Given the description of an element on the screen output the (x, y) to click on. 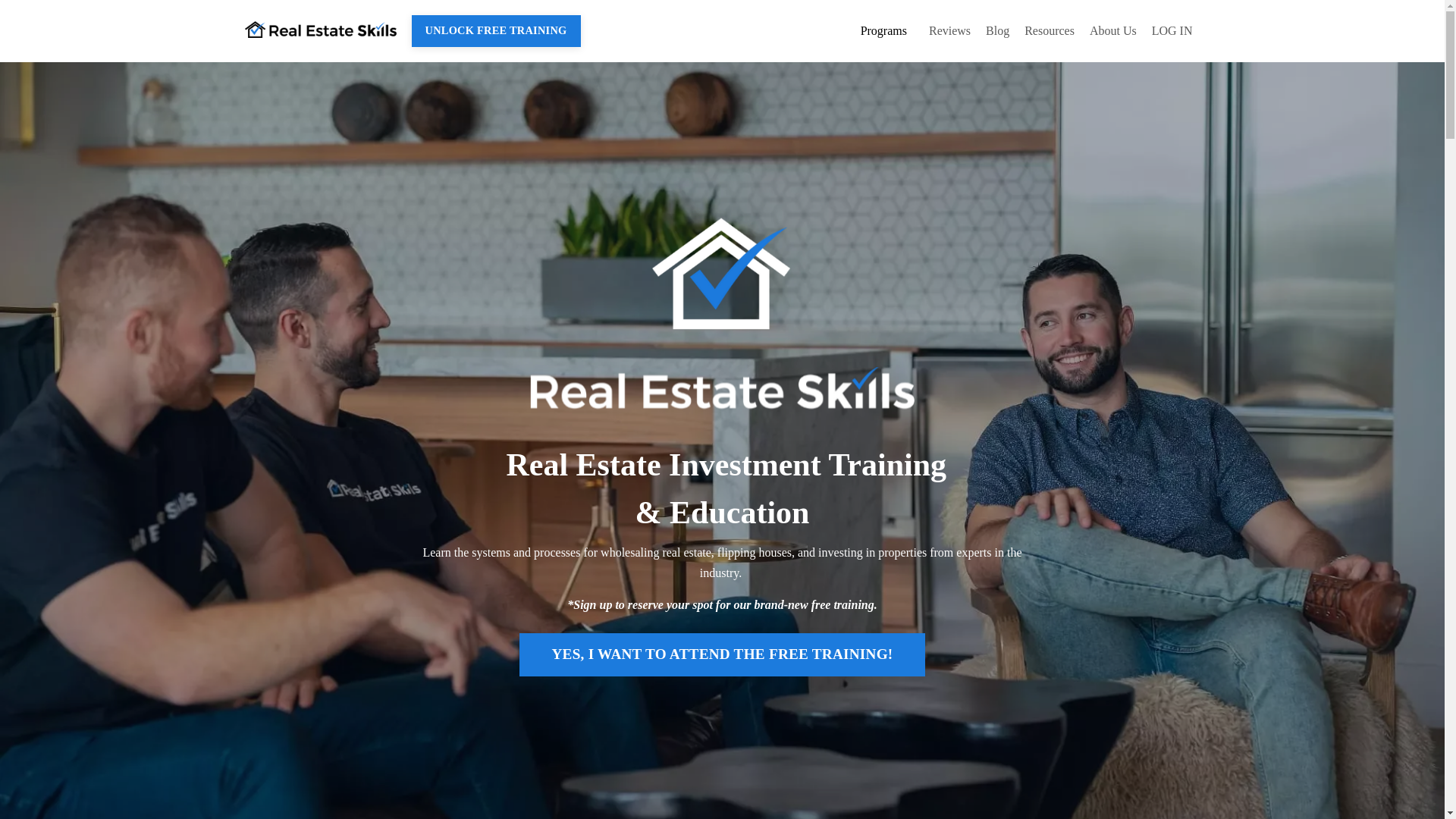
Resources (1049, 30)
Programs (887, 30)
YES, I WANT TO ATTEND THE FREE TRAINING! (721, 654)
Blog (997, 30)
Reviews (949, 30)
UNLOCK FREE TRAINING (494, 30)
LOG IN (1171, 30)
About Us (1113, 30)
